Given the description of an element on the screen output the (x, y) to click on. 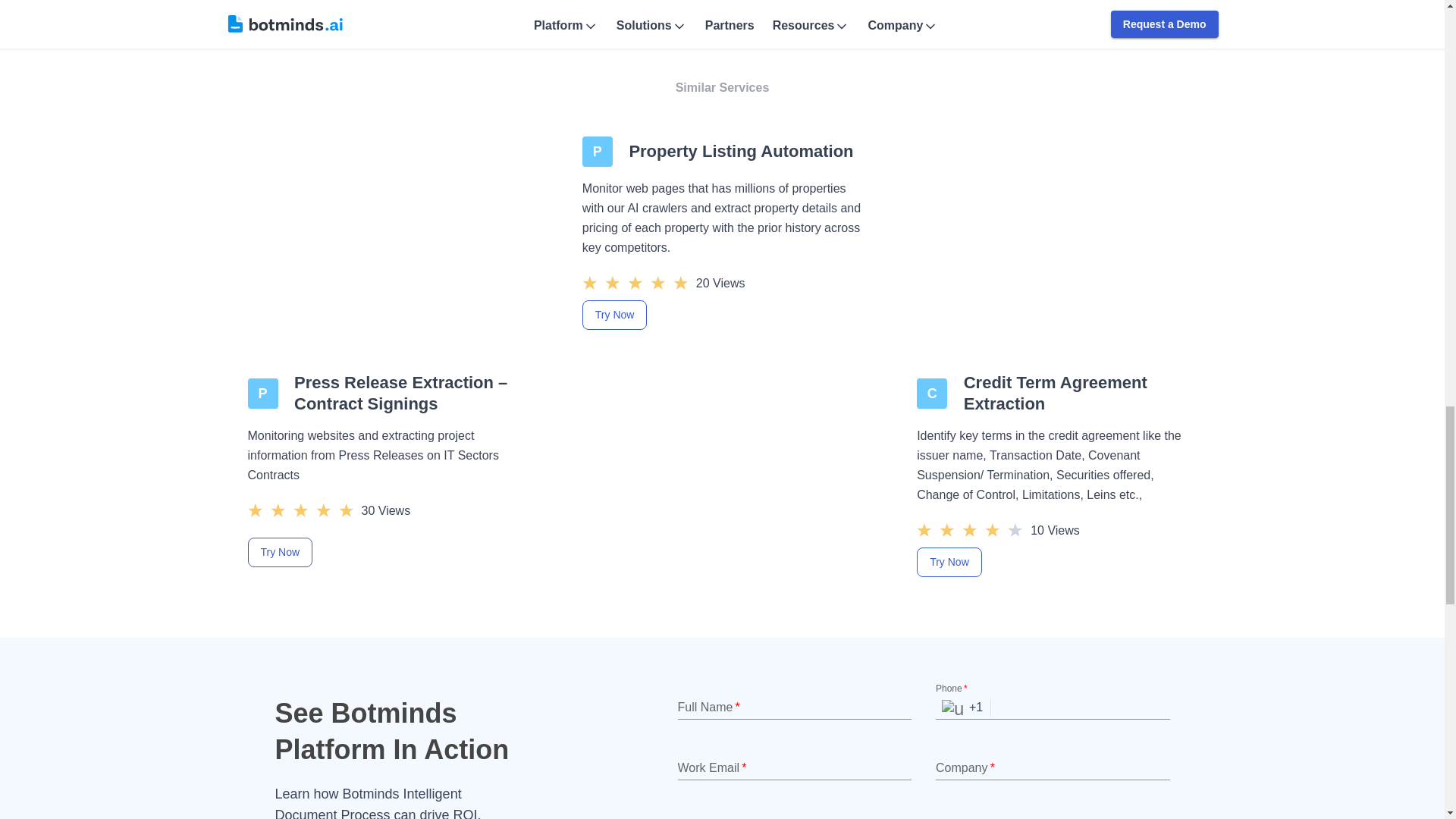
4.8 Stars (300, 509)
4.9 Stars (635, 281)
4.2 Stars (970, 529)
